Given the description of an element on the screen output the (x, y) to click on. 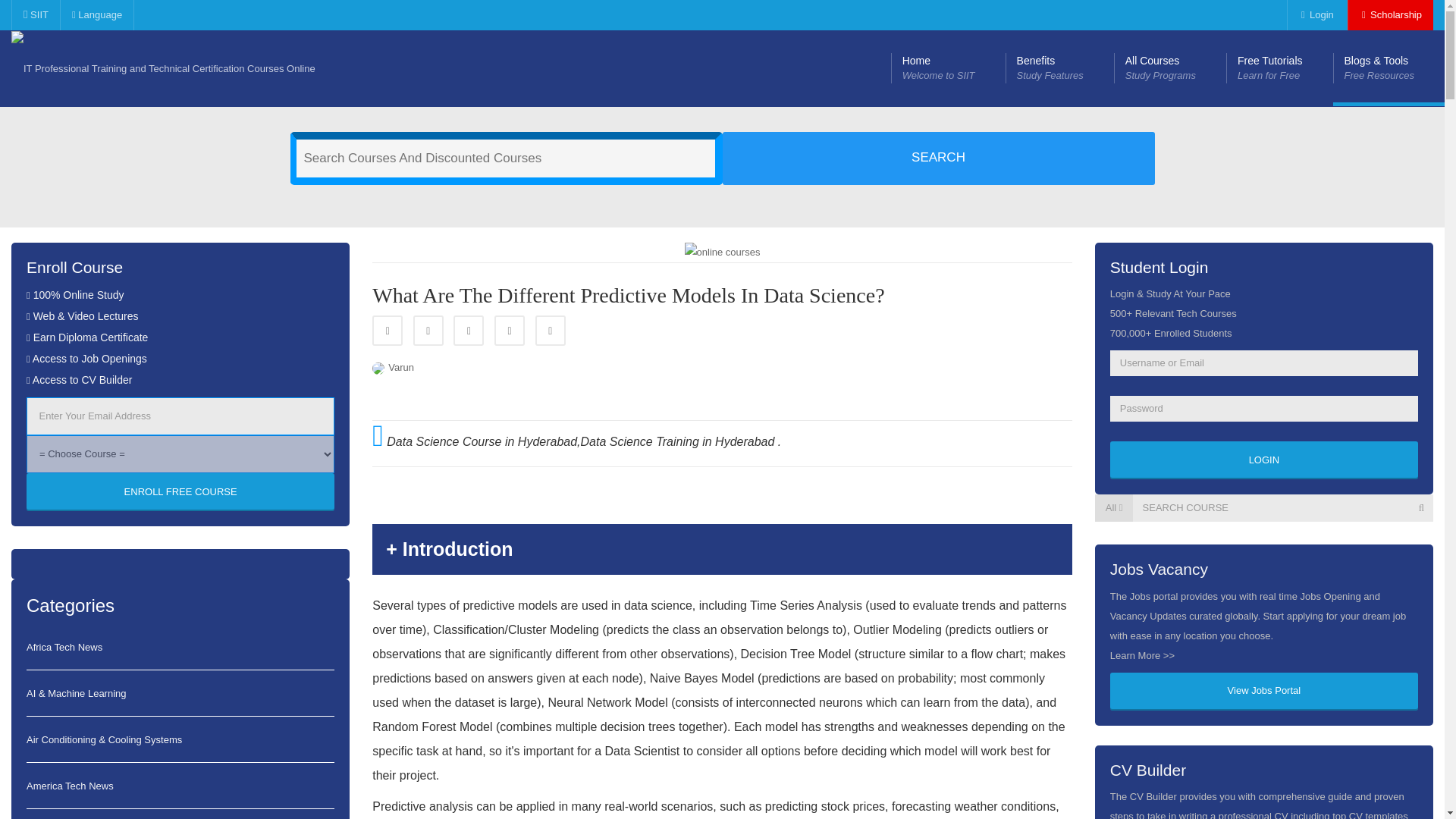
ENROLL FREE COURSE (948, 68)
Email this (180, 492)
SIIT - Scholars International Institute Of Technology (1169, 68)
Share on Facebook (550, 330)
 LOGIN  (163, 67)
View Jobs Portal (387, 330)
Pin this (1263, 460)
Portal Login (1263, 691)
